Given the description of an element on the screen output the (x, y) to click on. 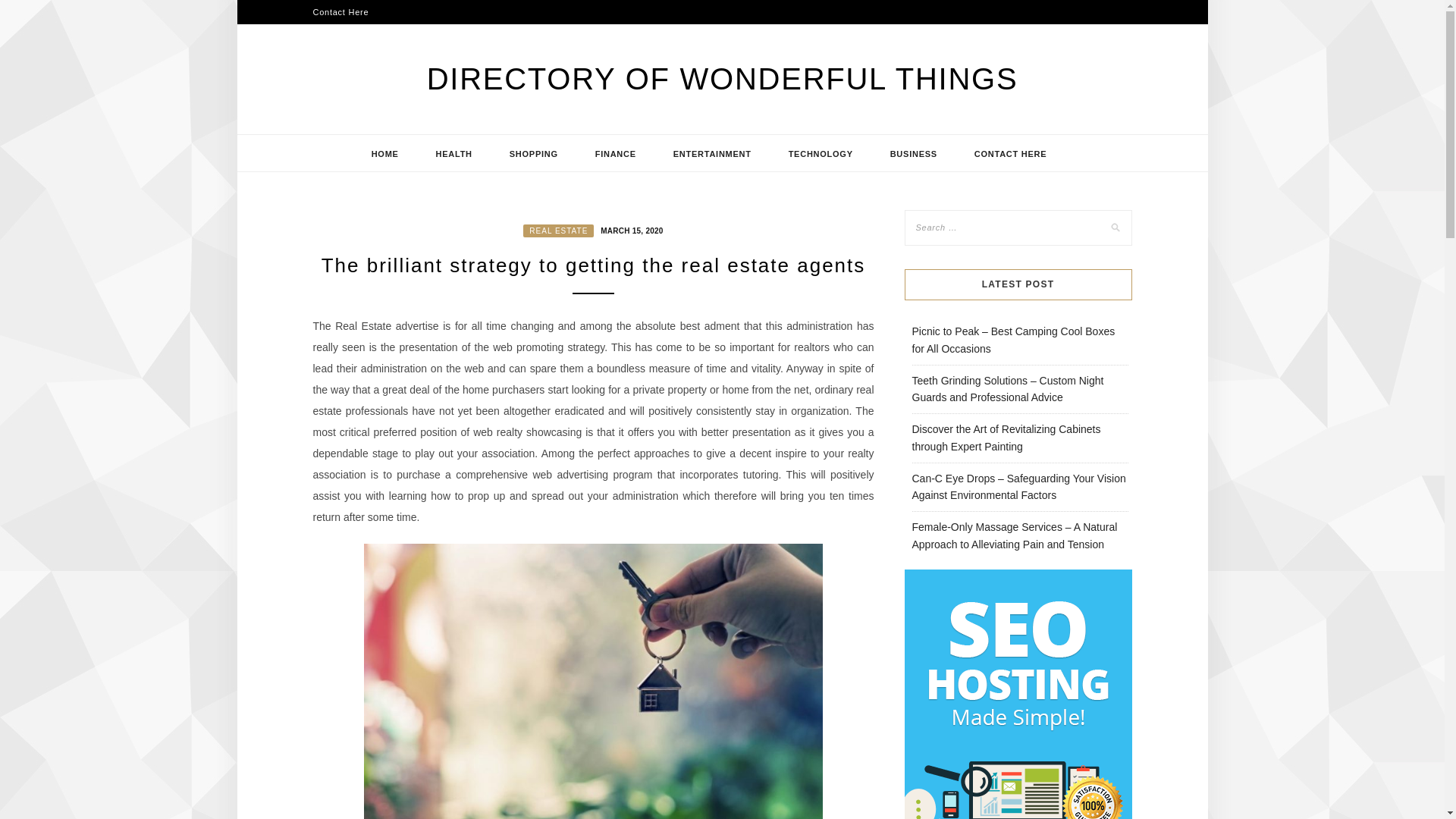
BUSINESS (913, 153)
HEALTH (454, 153)
TECHNOLOGY (820, 153)
REAL ESTATE (558, 230)
FINANCE (615, 153)
DIRECTORY OF WONDERFUL THINGS (721, 78)
HOME (385, 153)
MARCH 15, 2020 (629, 229)
Contact Here (340, 12)
SHOPPING (533, 153)
ENTERTAINMENT (712, 153)
CONTACT HERE (1011, 153)
Search (28, 11)
